Given the description of an element on the screen output the (x, y) to click on. 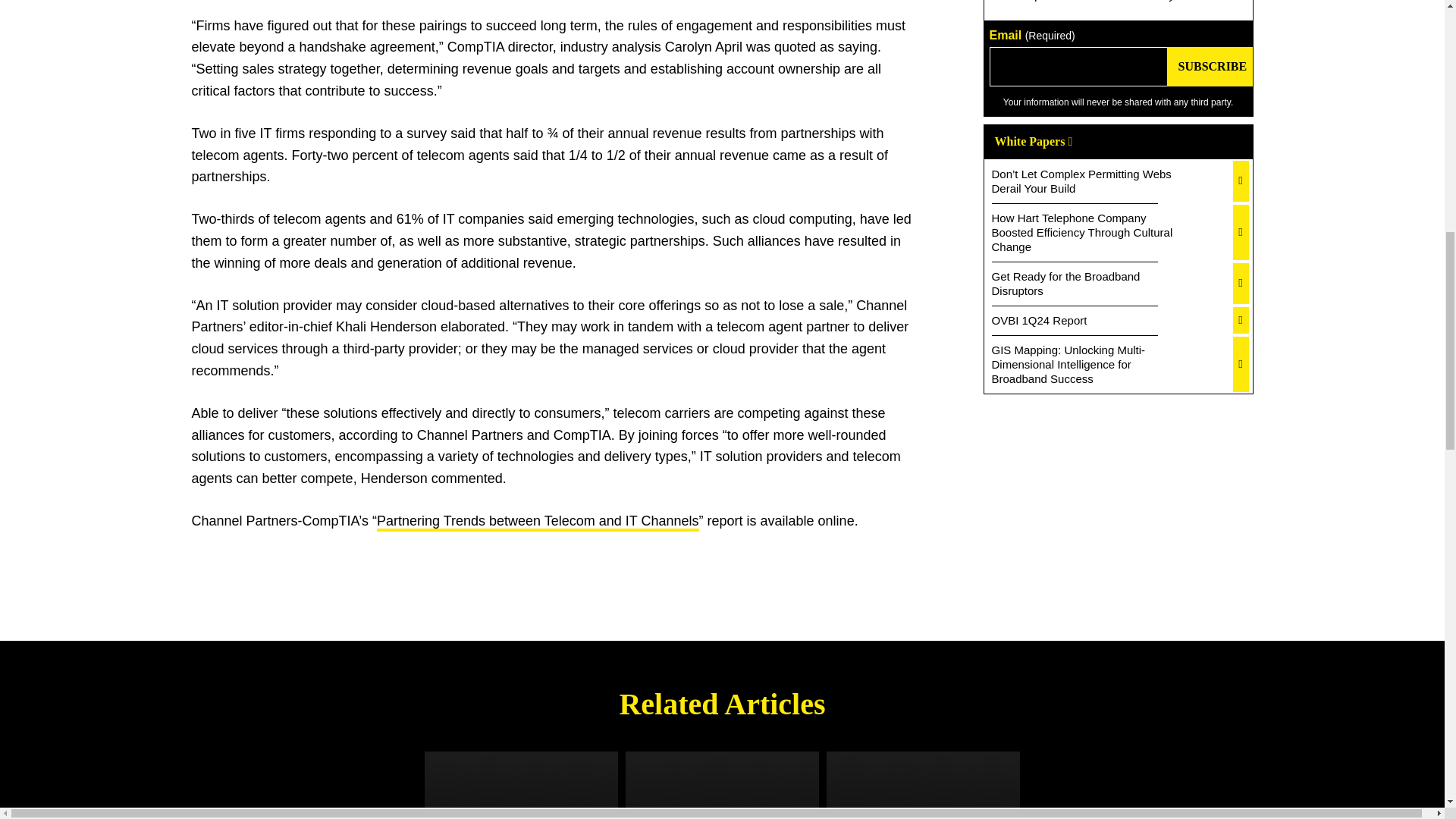
Partnering Trends between Telecom and IT Channels (537, 522)
